Given the description of an element on the screen output the (x, y) to click on. 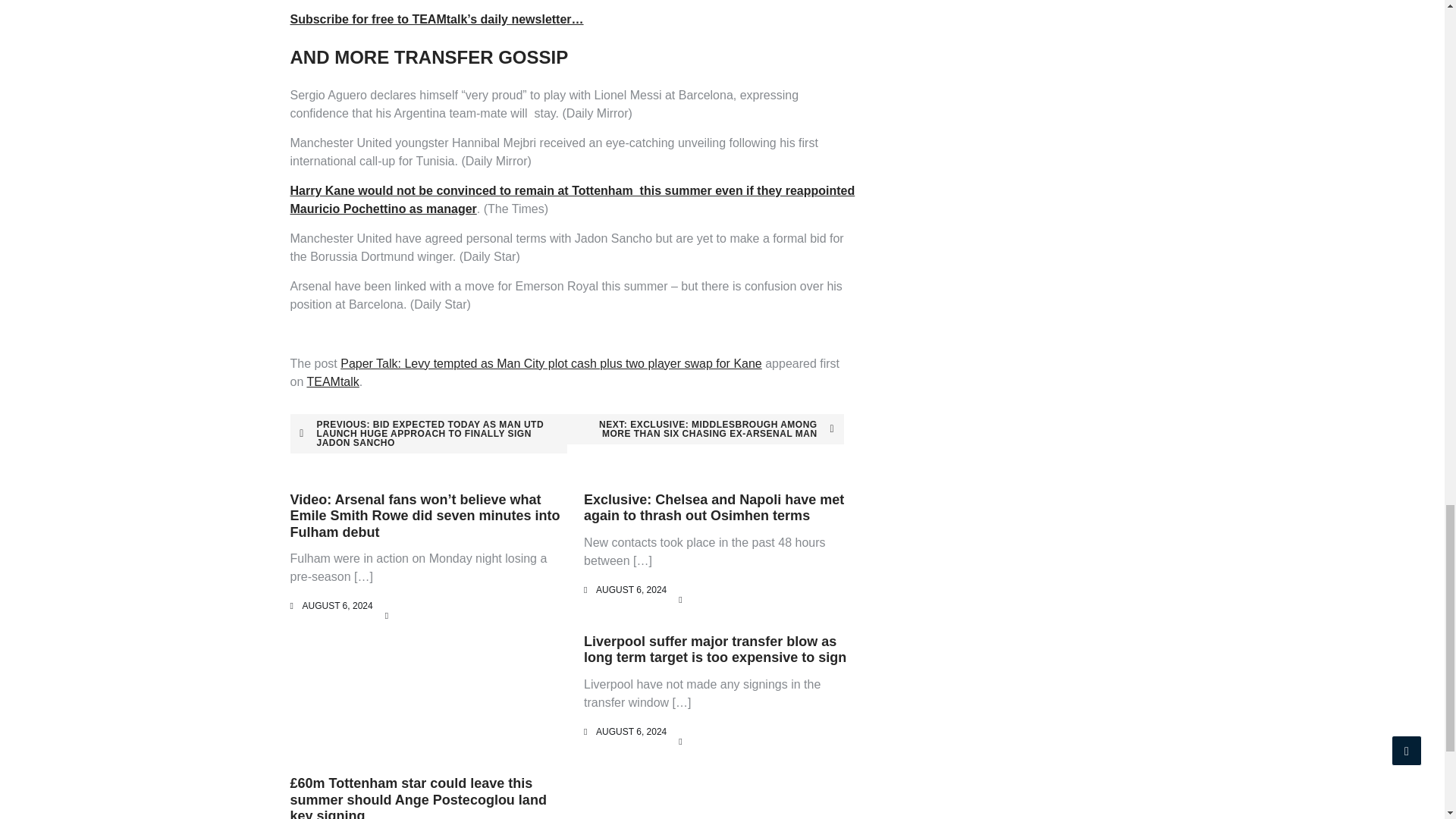
AUGUST 6, 2024 (630, 731)
AUGUST 6, 2024 (336, 605)
TEAMtalk (331, 381)
AUGUST 6, 2024 (630, 589)
